Given the description of an element on the screen output the (x, y) to click on. 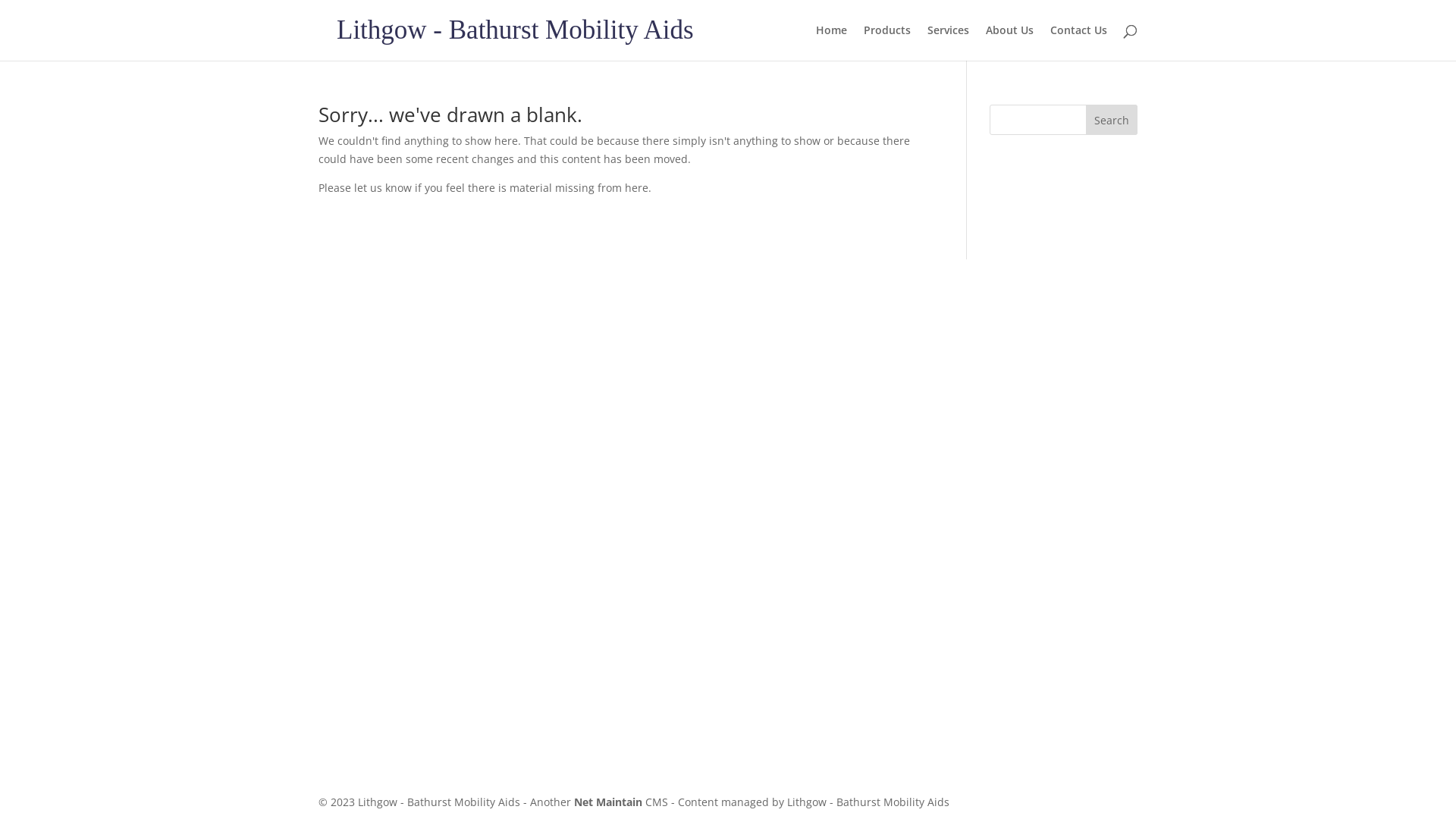
About Us Element type: text (1009, 42)
Home Element type: text (831, 42)
Lithgow - Bathurst Mobility Aids Element type: text (514, 29)
Net Maintain Element type: text (608, 801)
Contact Us Element type: text (1078, 42)
Services Element type: text (948, 42)
Search Element type: text (1111, 119)
Products Element type: text (886, 42)
